Given the description of an element on the screen output the (x, y) to click on. 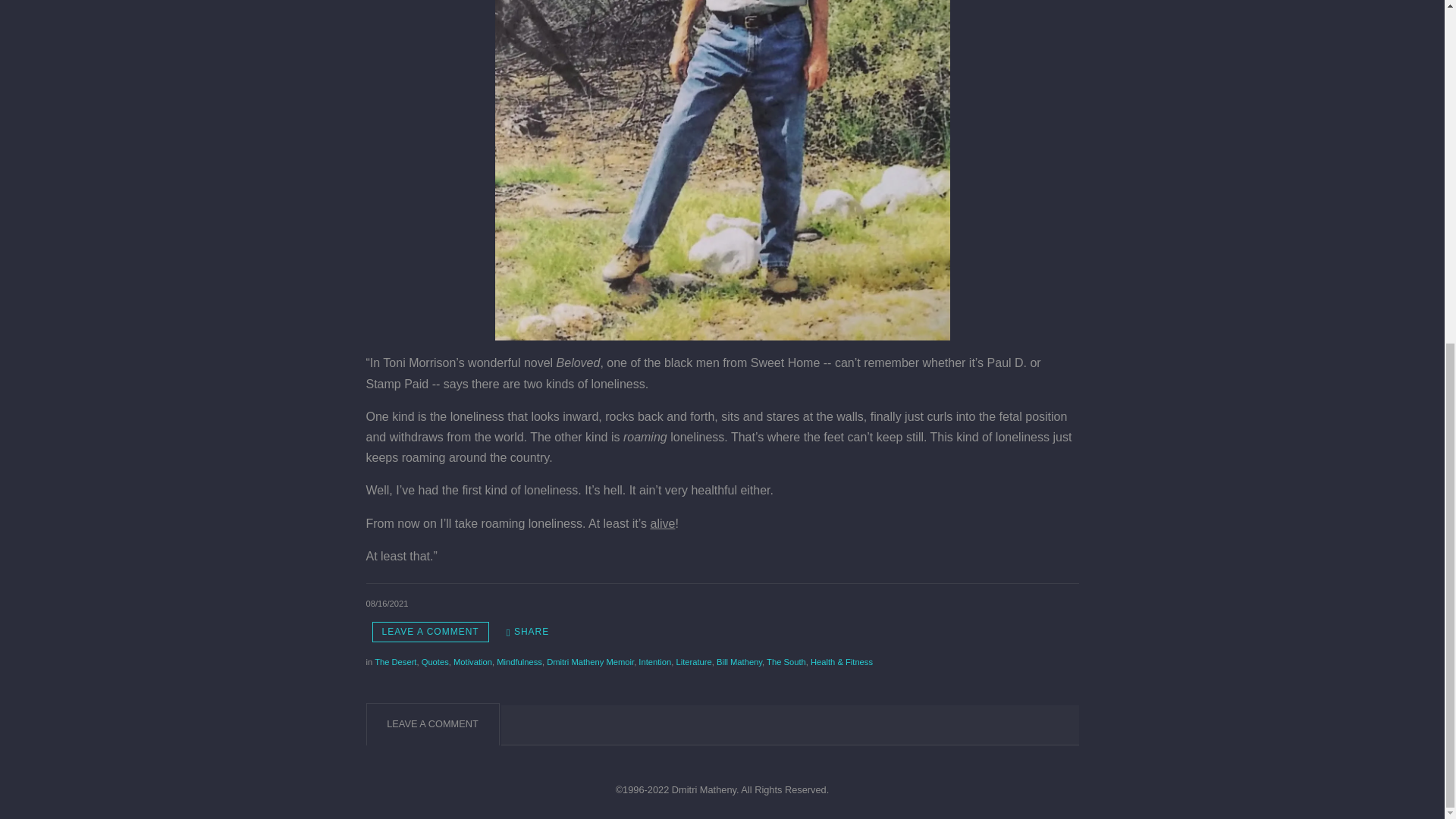
Leave a comment (429, 631)
August 16, 2021 16:49 (386, 603)
